Given the description of an element on the screen output the (x, y) to click on. 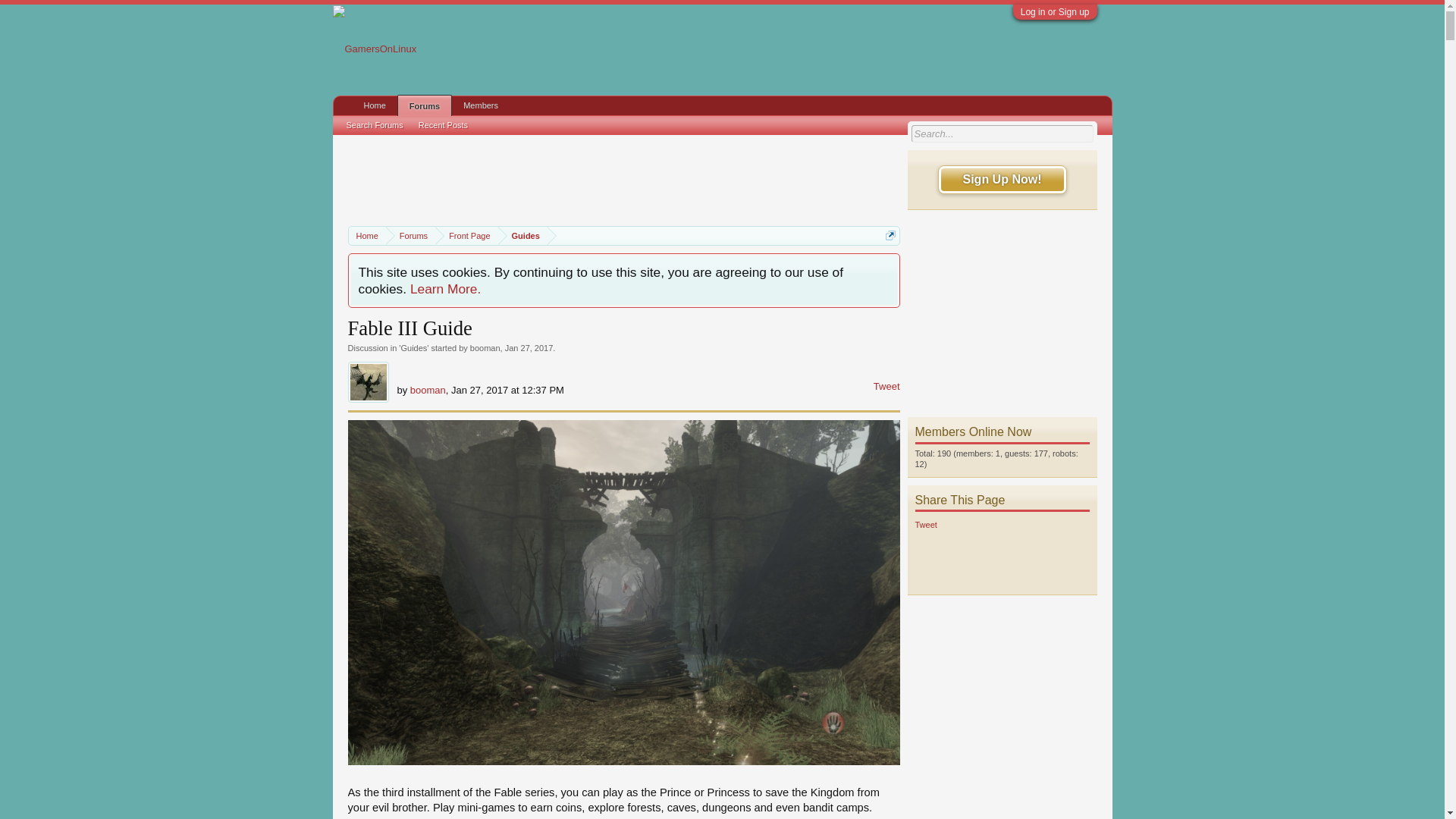
See all online users (972, 431)
Guides (413, 347)
Front Page (466, 235)
Jan 27, 2017 (529, 347)
Tweet (886, 386)
booman (485, 347)
Log in or Sign up (1054, 11)
Learn More. (445, 288)
Guides (522, 235)
Enter your search and hit enter (1002, 133)
Forums (410, 235)
Open quick navigation (890, 235)
Jan 27, 2017 at 12:37 PM (529, 347)
Home (367, 235)
